Given the description of an element on the screen output the (x, y) to click on. 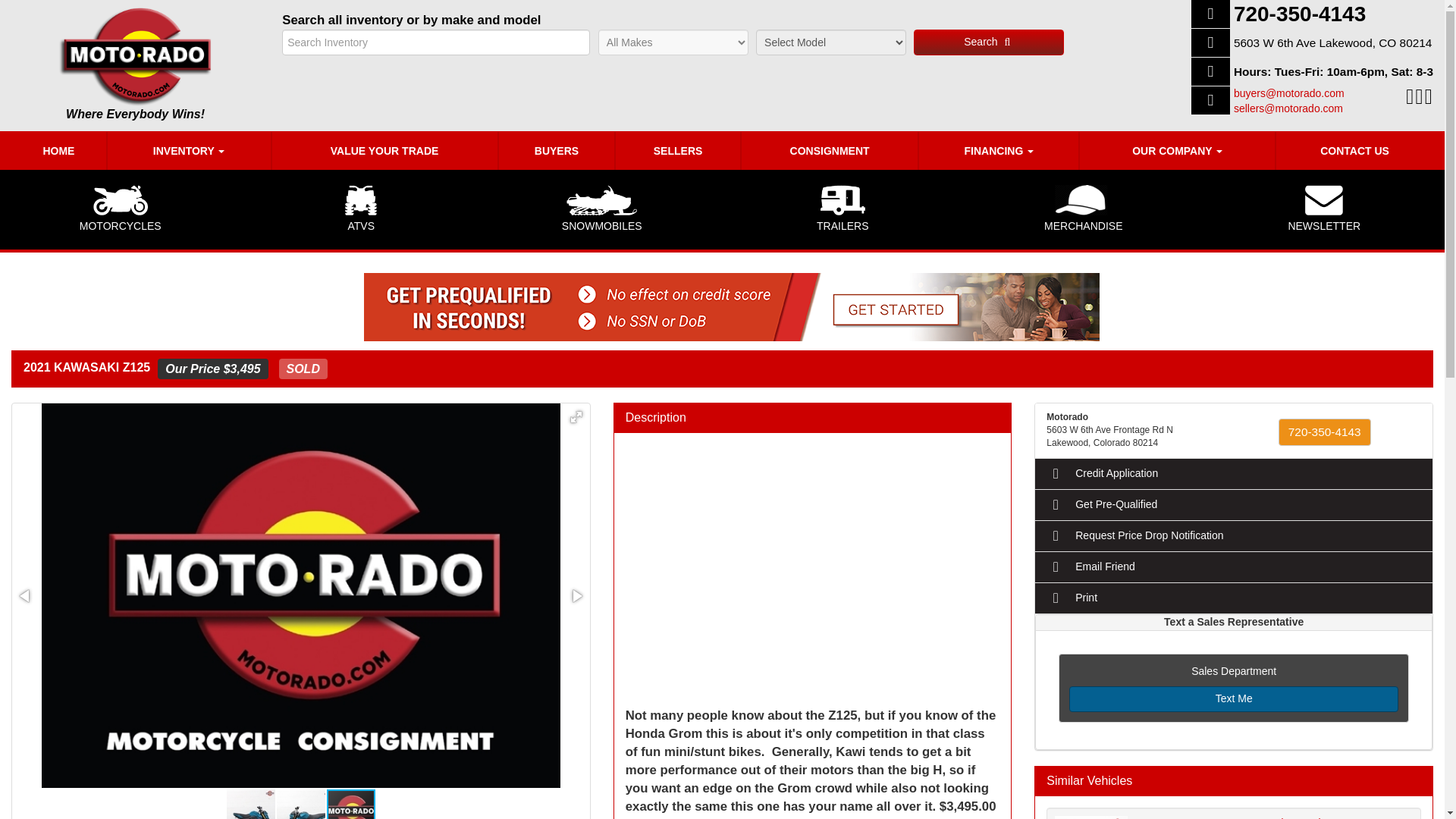
SELLERS (677, 150)
YouTube video player (813, 563)
INVENTORY (188, 150)
Search (989, 42)
HOME (58, 150)
get pre qualfiied (731, 306)
CONSIGNMENT (829, 150)
FINANCING (998, 150)
BUYERS (556, 150)
OUR COMPANY (1177, 150)
VALUE YOUR TRADE (383, 150)
